Given the description of an element on the screen output the (x, y) to click on. 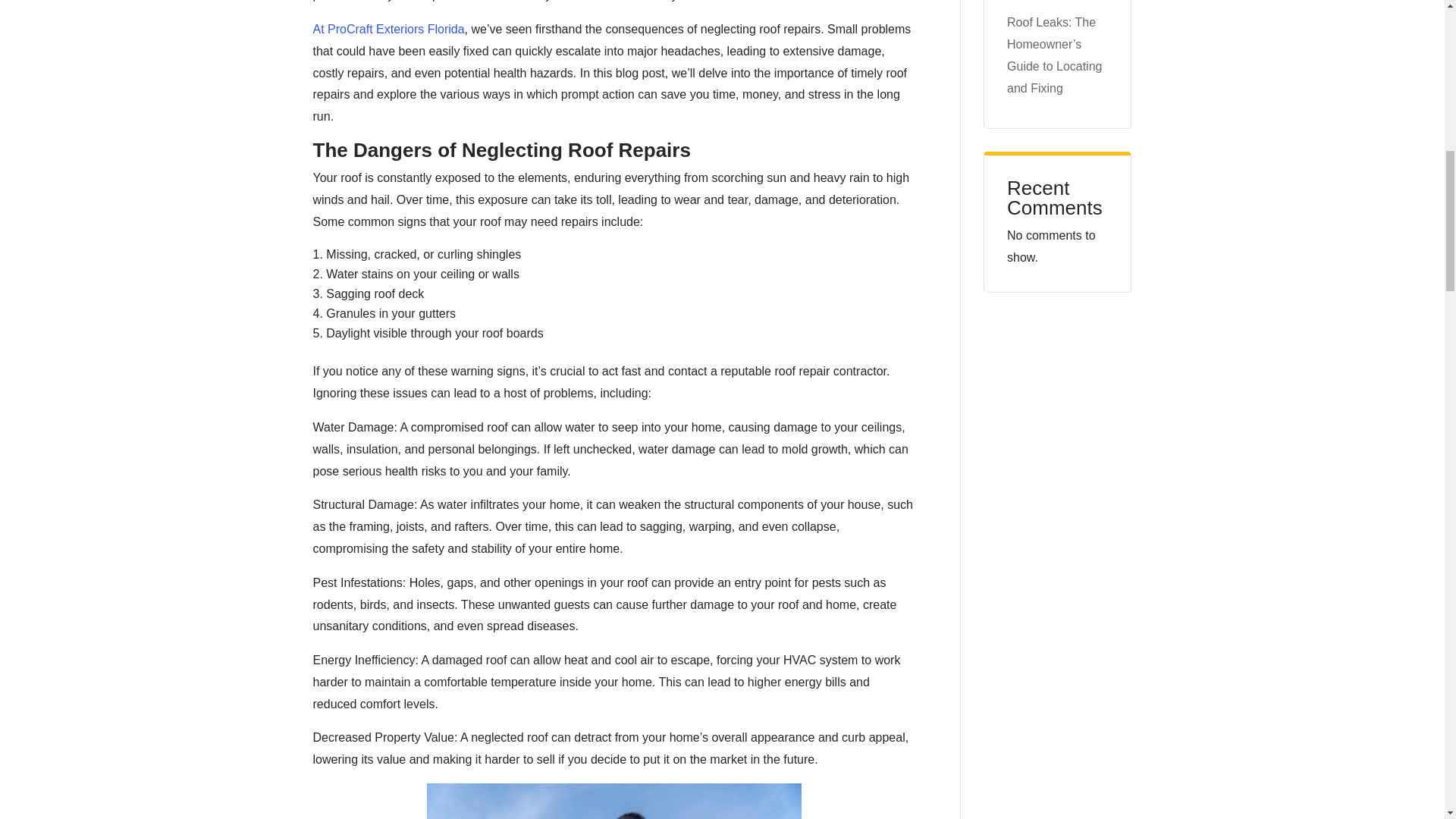
At ProCraft Exteriors Florida (388, 29)
